Given the description of an element on the screen output the (x, y) to click on. 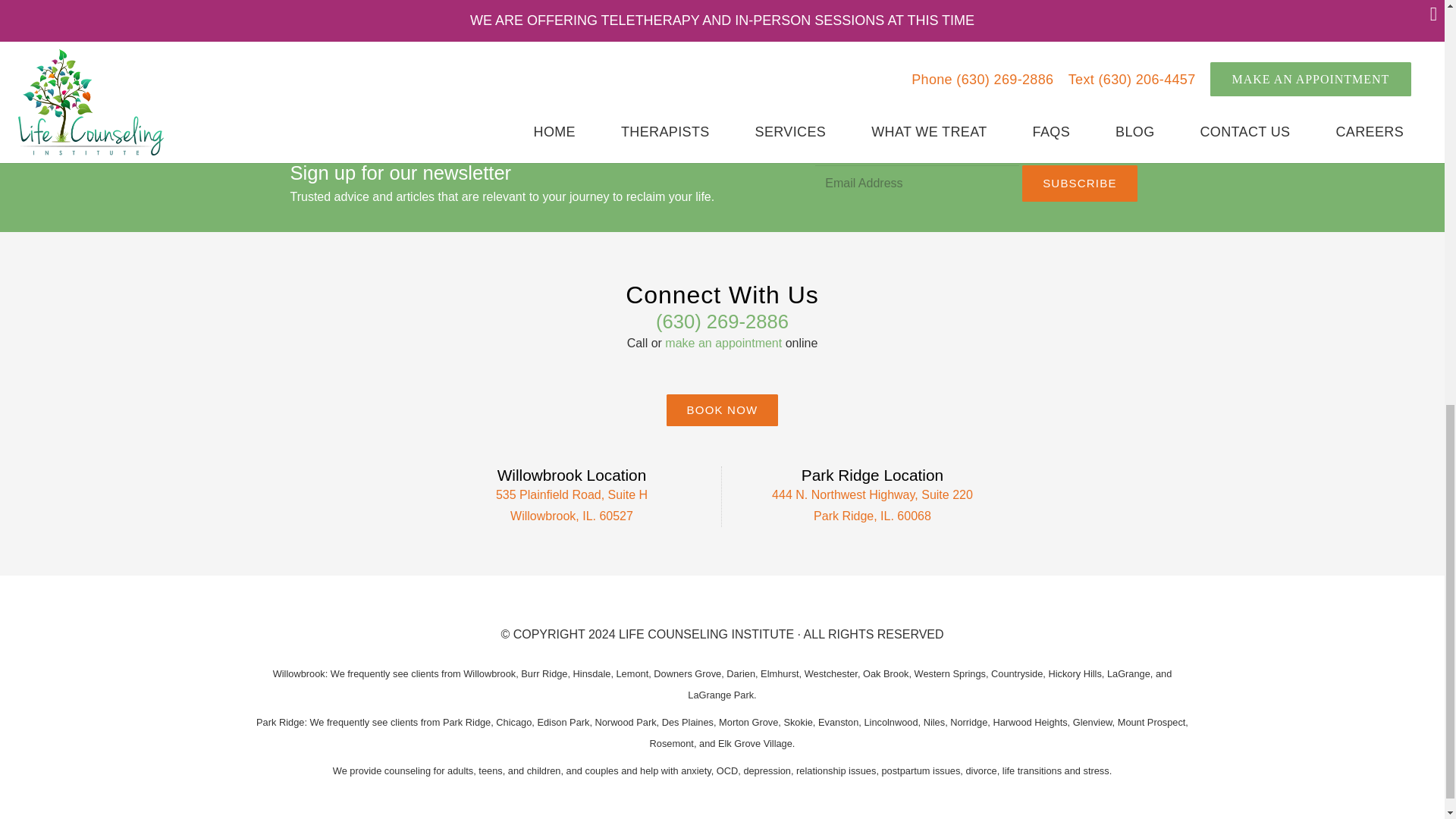
Subscribe (1079, 183)
